Given the description of an element on the screen output the (x, y) to click on. 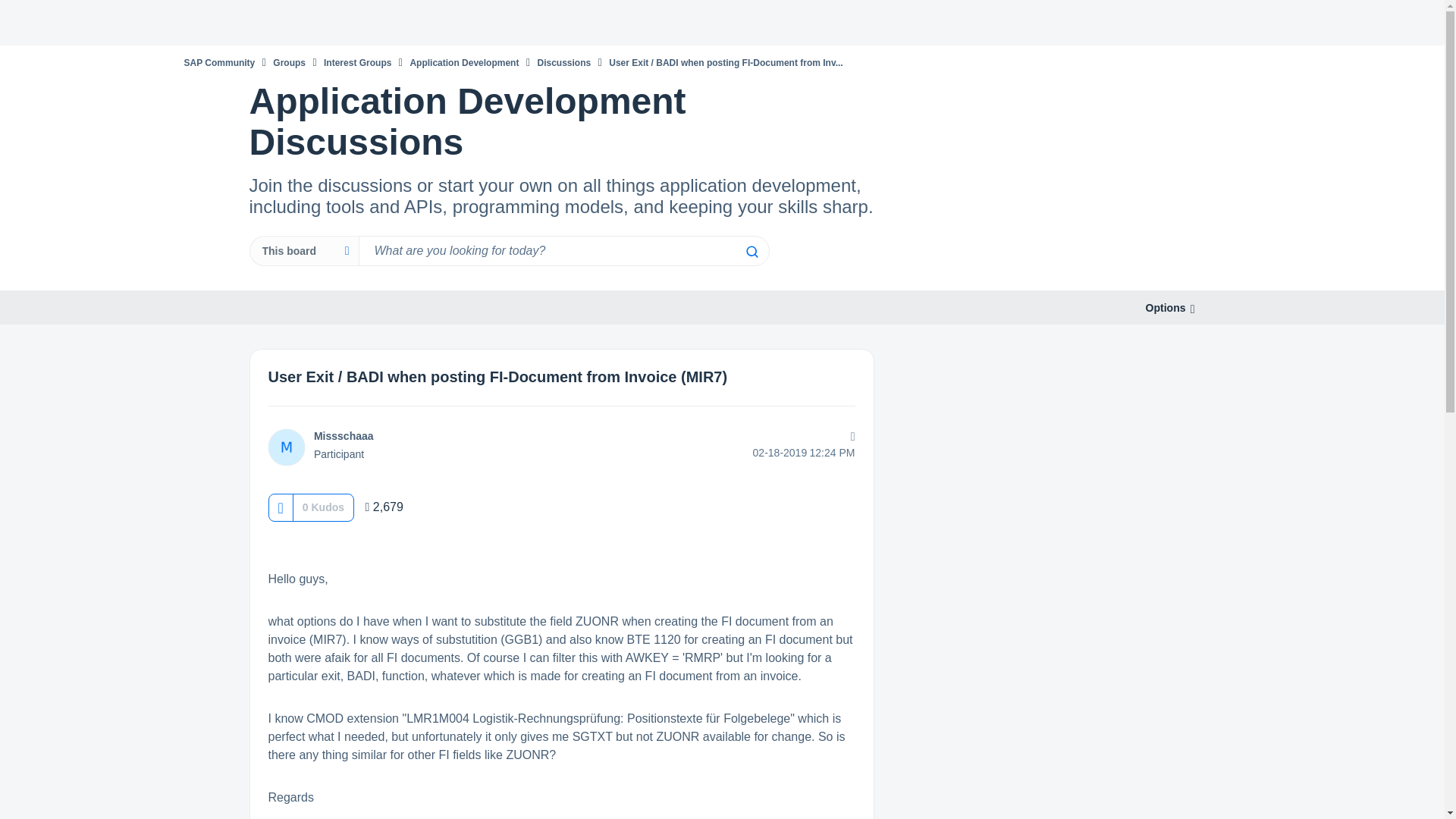
Options (1165, 307)
Search (750, 251)
Search (750, 251)
Missschaaa (344, 435)
Click here to give kudos to this post. (279, 507)
Groups (289, 62)
Missschaaa (285, 447)
Interest Groups (357, 62)
Search (750, 251)
SAP Community (218, 62)
